Given the description of an element on the screen output the (x, y) to click on. 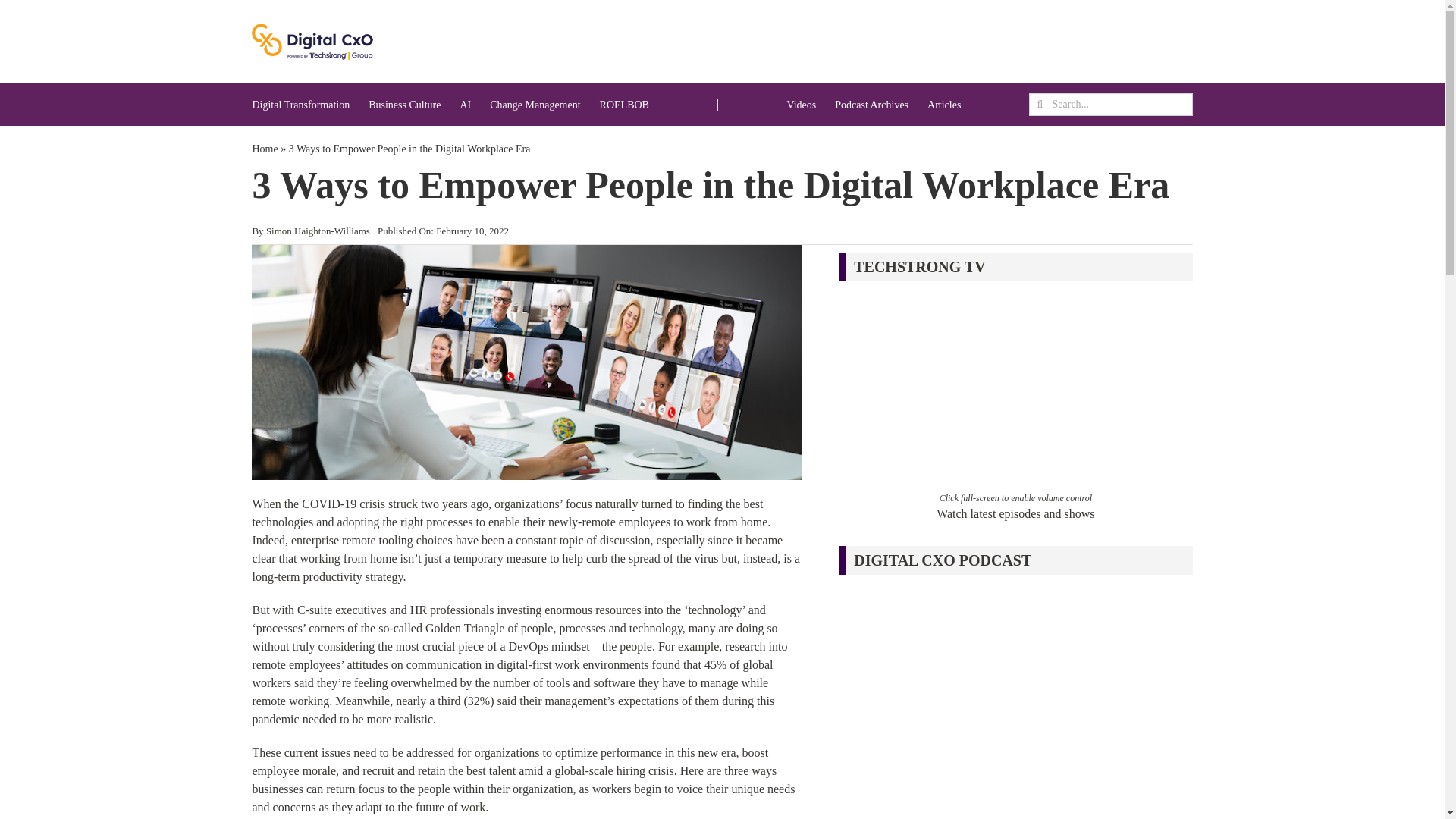
Posts by Simon Haighton-Williams (317, 230)
ROELBOB (624, 104)
Business Culture (404, 104)
Digital CxO Podcast (1015, 702)
Watch latest episodes and shows (1015, 513)
Golden Triangle (464, 627)
Change Management (534, 104)
Digital Transformation (300, 104)
Home (264, 148)
Podcast Archives (871, 104)
